Given the description of an element on the screen output the (x, y) to click on. 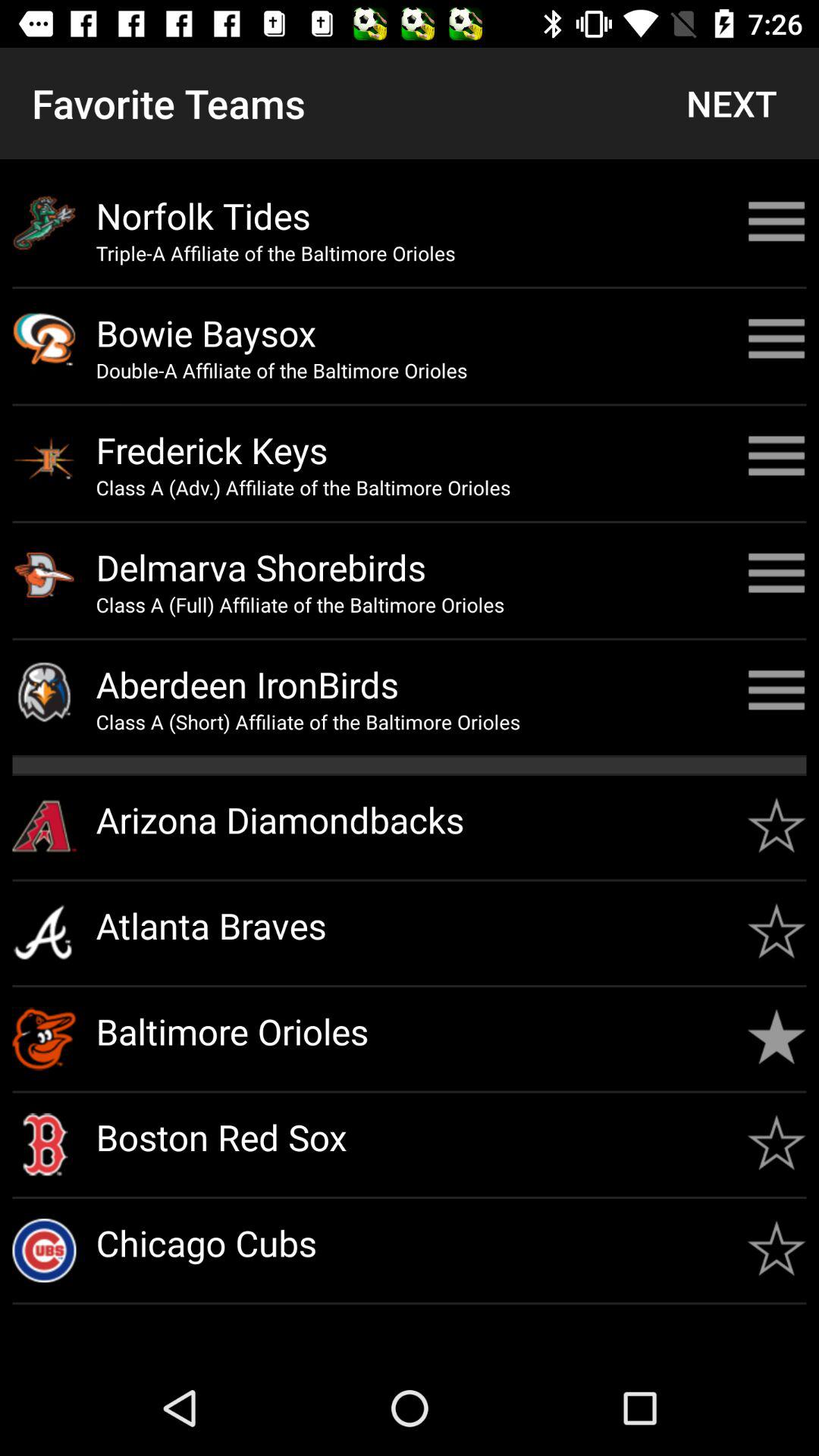
click the icon to the right of favorite teams icon (731, 103)
